Given the description of an element on the screen output the (x, y) to click on. 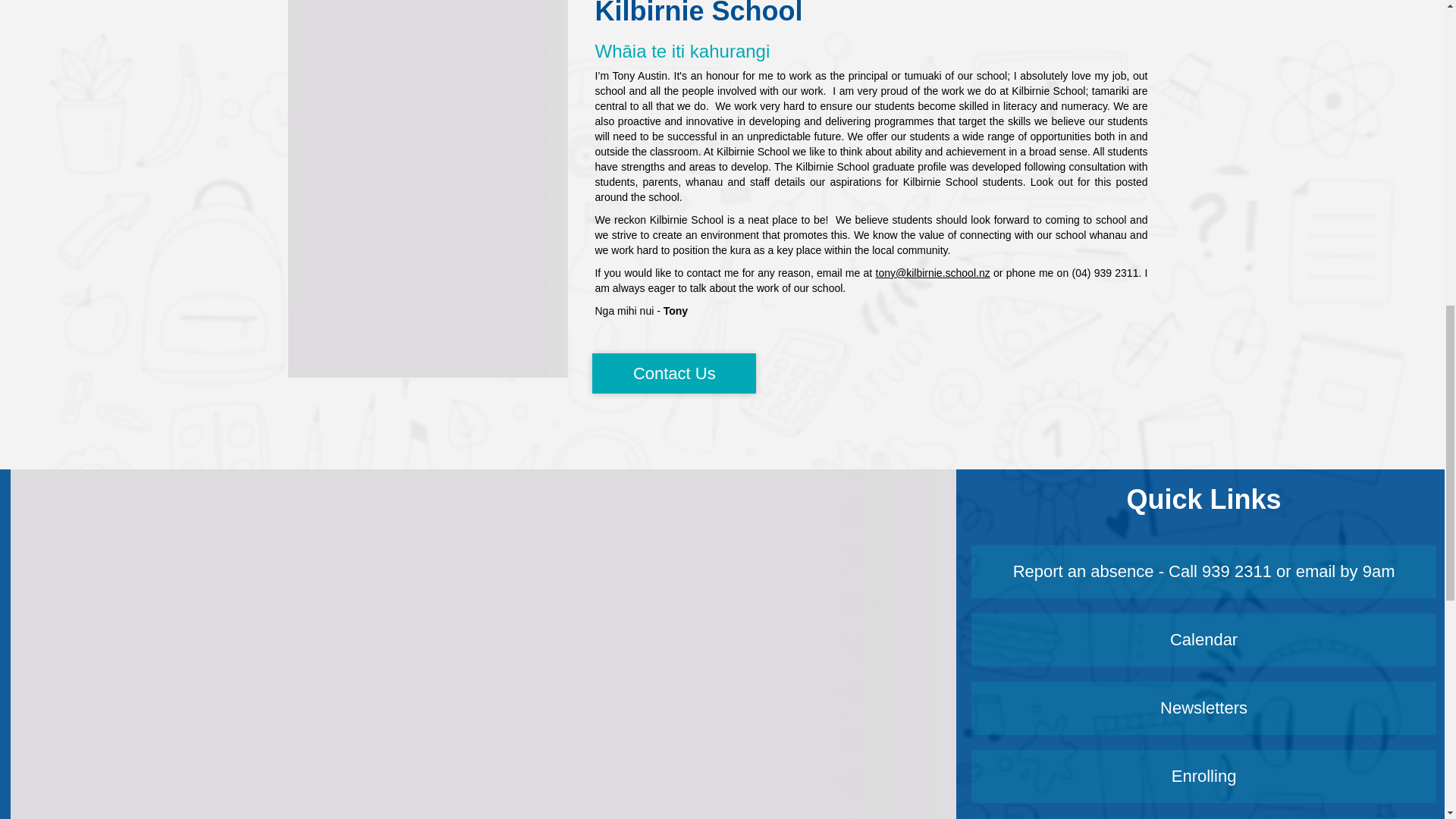
Newsletters (1203, 707)
Contact Us (673, 372)
Enrolling (1203, 776)
Report an absence - Call 939 2311 or email by 9am (1203, 571)
Calendar (1203, 639)
